Given the description of an element on the screen output the (x, y) to click on. 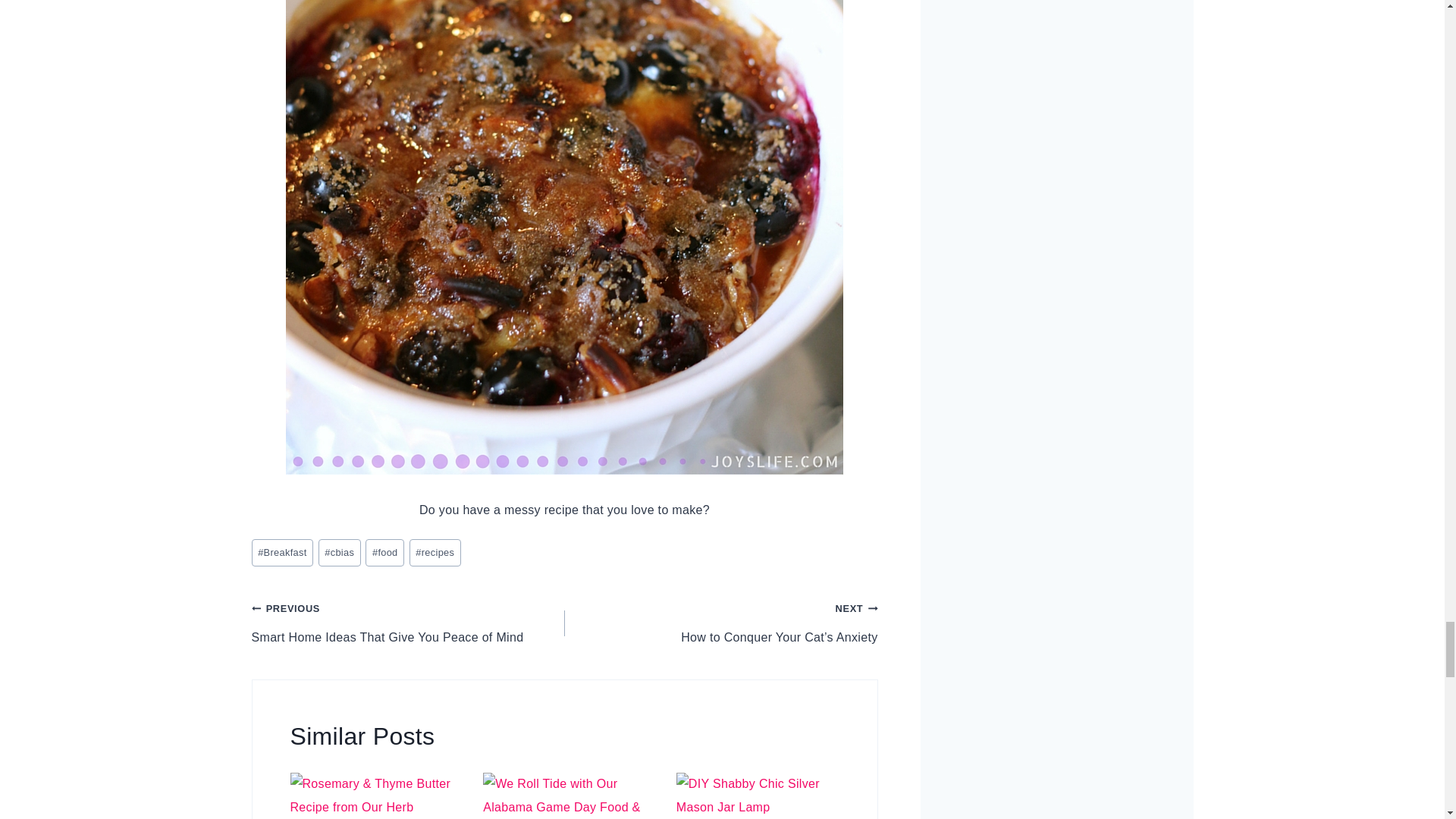
recipes (435, 552)
Breakfast (282, 552)
cbias (339, 552)
food (384, 552)
